Given the description of an element on the screen output the (x, y) to click on. 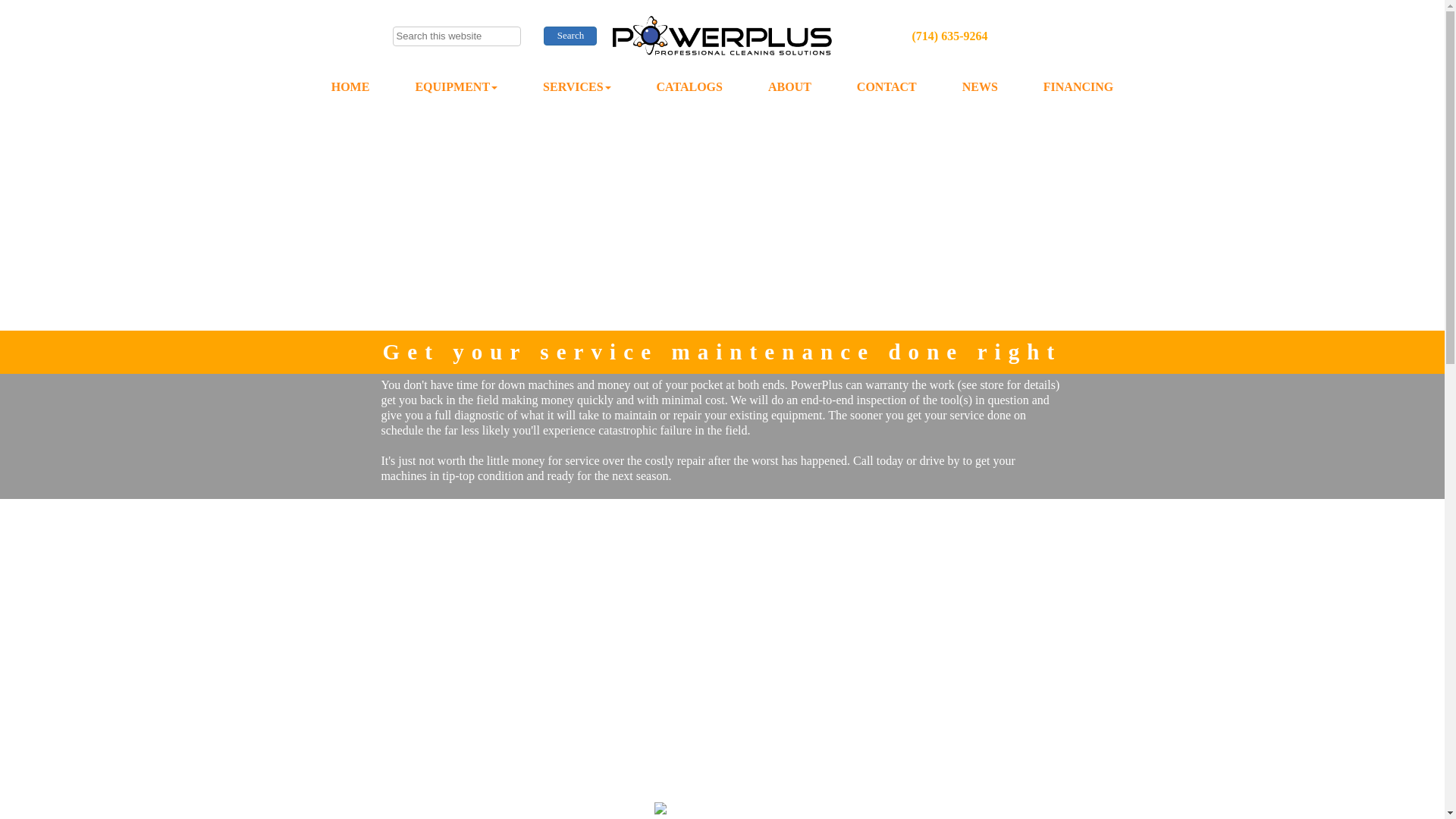
EQUIPMENT (455, 87)
HOME (350, 87)
Search (569, 35)
HOME (350, 87)
PowerPlus Logo (721, 36)
SERVICES (576, 87)
